Given the description of an element on the screen output the (x, y) to click on. 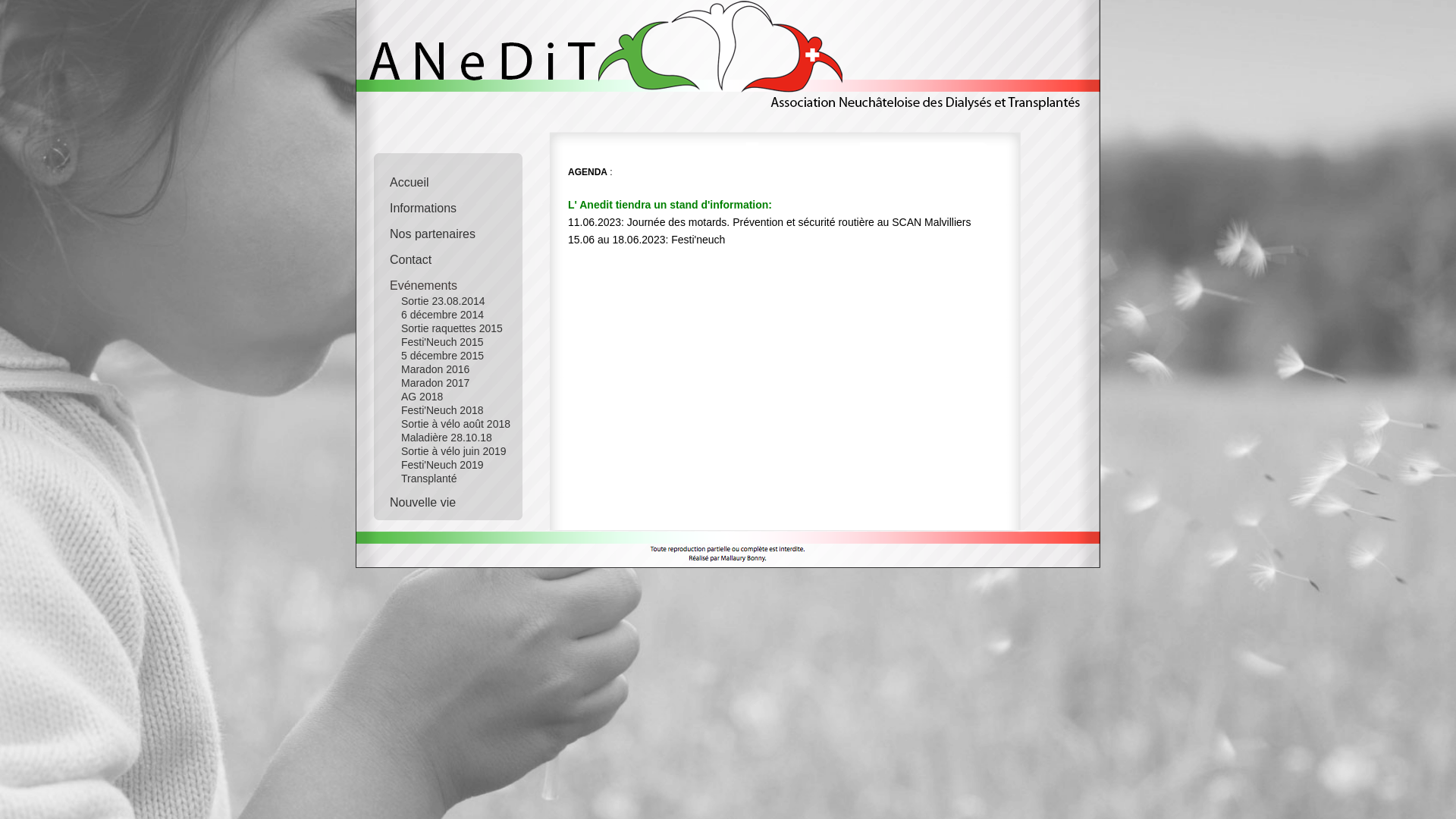
AG 2018 Element type: text (446, 396)
Accueil Element type: text (457, 178)
Festi'Neuch 2019 Element type: text (446, 464)
Maradon 2017 Element type: text (446, 382)
Festi'Neuch 2018 Element type: text (446, 410)
Festi'Neuch 2015 Element type: text (446, 341)
Nouvelle vie Element type: text (457, 498)
Sortie 23.08.2014 Element type: text (446, 300)
Contact Element type: text (457, 255)
Nos partenaires Element type: text (457, 229)
Sortie raquettes 2015 Element type: text (446, 328)
Maradon 2016 Element type: text (446, 369)
Informations Element type: text (457, 203)
